Given the description of an element on the screen output the (x, y) to click on. 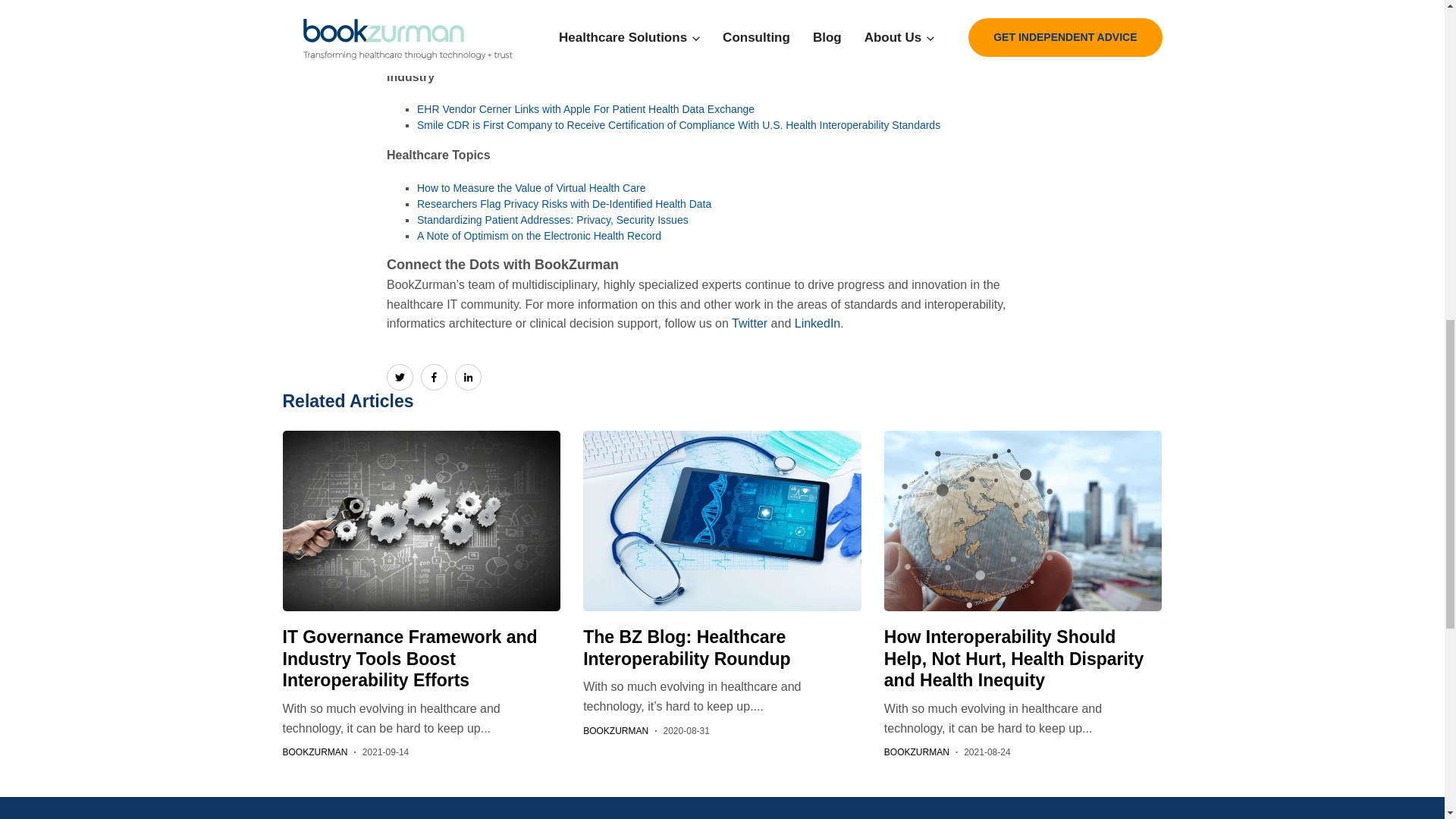
Twitter (749, 323)
A Note of Optimism on the Electronic Health Record (538, 235)
BOOKZURMAN (314, 751)
Standardizing Patient Addresses: Privacy, Security Issues (552, 219)
How to Measure the Value of Virtual Health Care (530, 187)
HIMSS Announces 2021 Changemaker in Health Awardees (556, 20)
LinkedIn (817, 323)
